Given the description of an element on the screen output the (x, y) to click on. 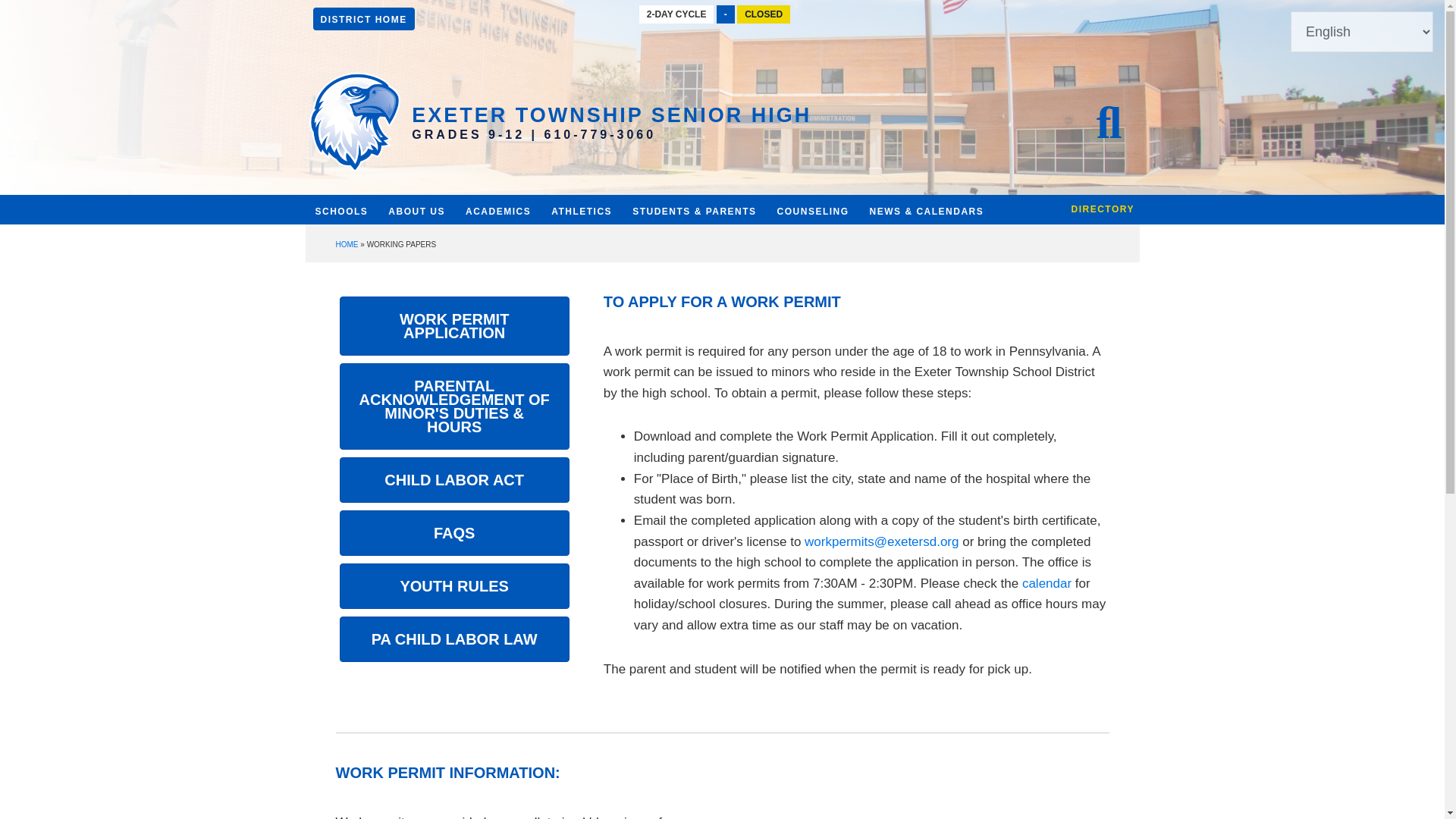
ABOUT US (416, 211)
DISTRICT HOME (363, 18)
EAGLE HEAD LOGO STROKE (354, 122)
SCHOOLS (340, 218)
EXETER TOWNSHIP SENIOR HIGH (611, 115)
ACADEMICS (497, 211)
Exeter Township Senior High (611, 115)
